Given the description of an element on the screen output the (x, y) to click on. 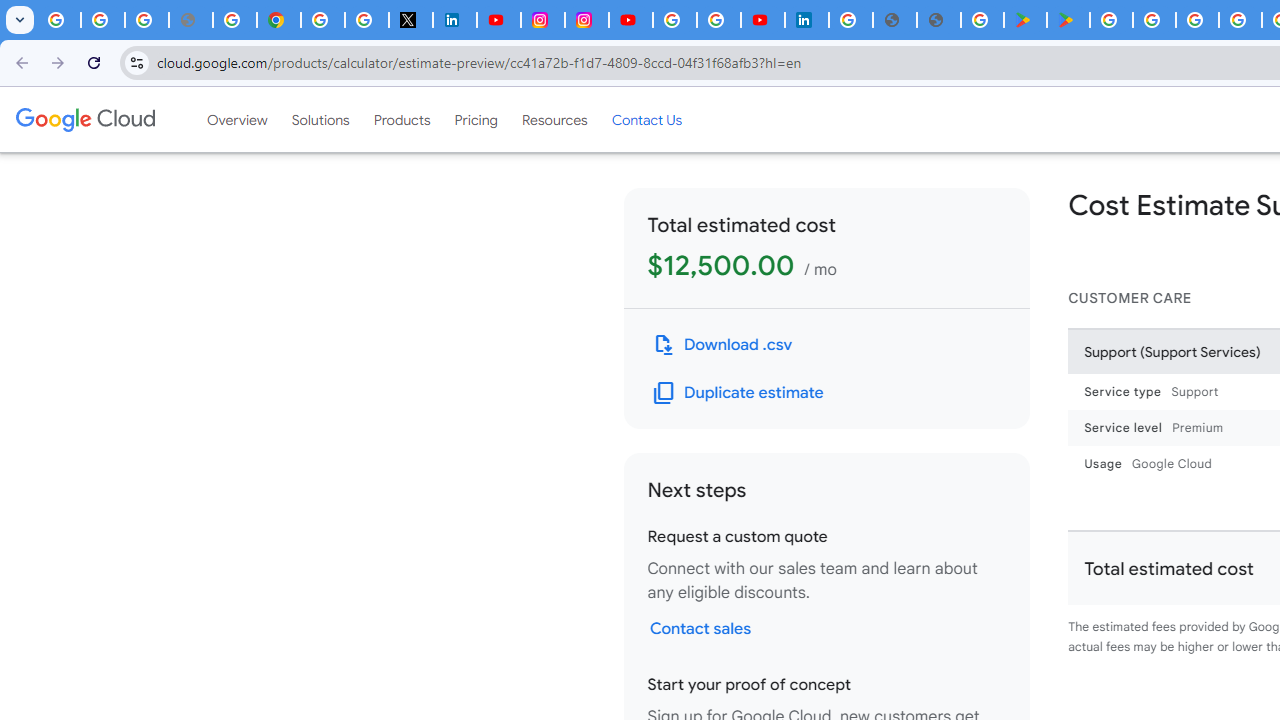
Sign in - Google Accounts (850, 20)
YouTube Content Monetization Policies - How YouTube Works (498, 20)
google_privacy_policy_en.pdf (894, 20)
Privacy Help Center - Policies Help (234, 20)
Google Cloud (84, 119)
Sign in - Google Accounts (322, 20)
